Given the description of an element on the screen output the (x, y) to click on. 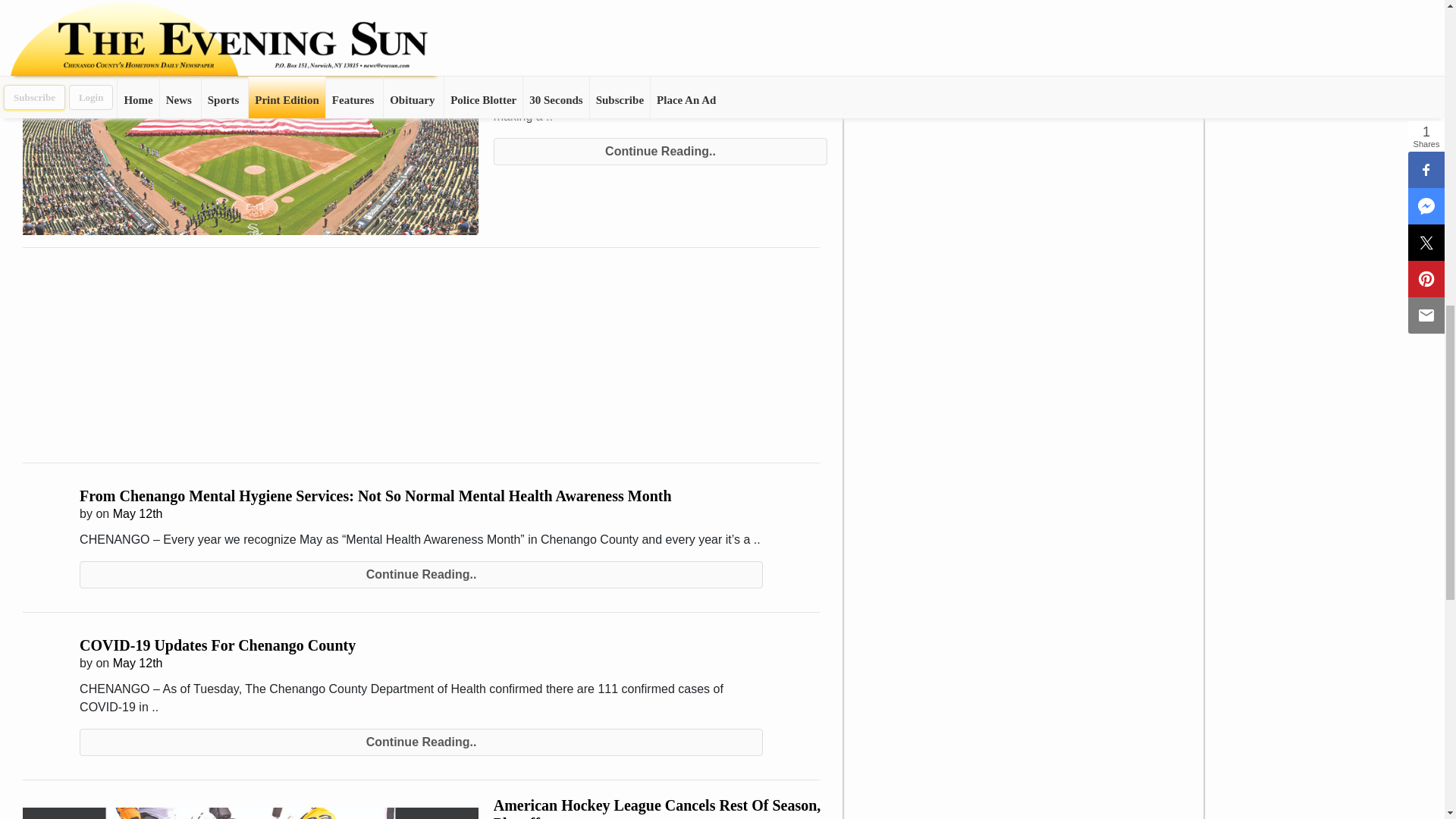
3rd party ad content (147, 362)
3rd party ad content (421, 362)
3rd party ad content (694, 362)
